Given the description of an element on the screen output the (x, y) to click on. 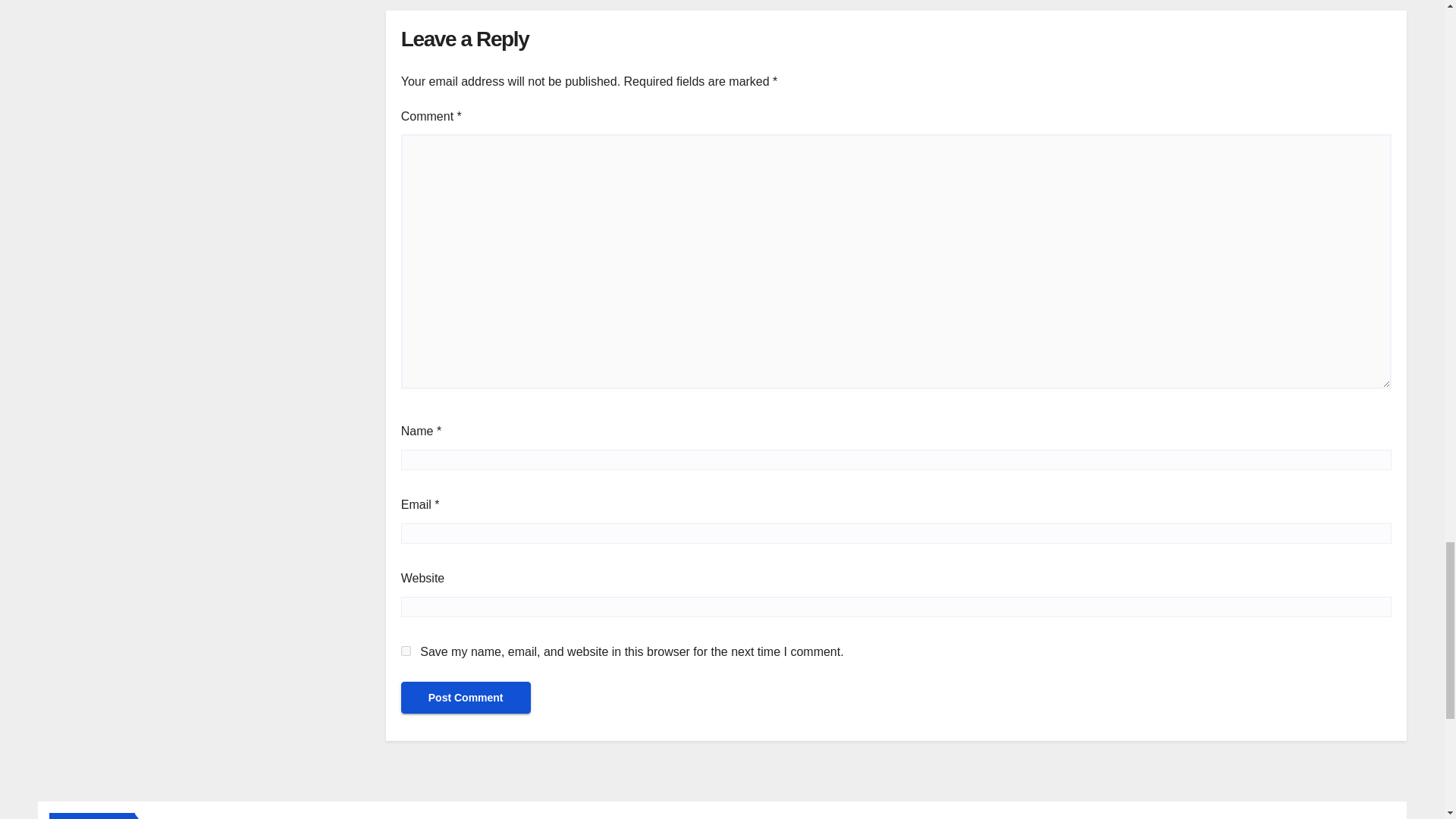
Post Comment (466, 697)
yes (405, 651)
